Given the description of an element on the screen output the (x, y) to click on. 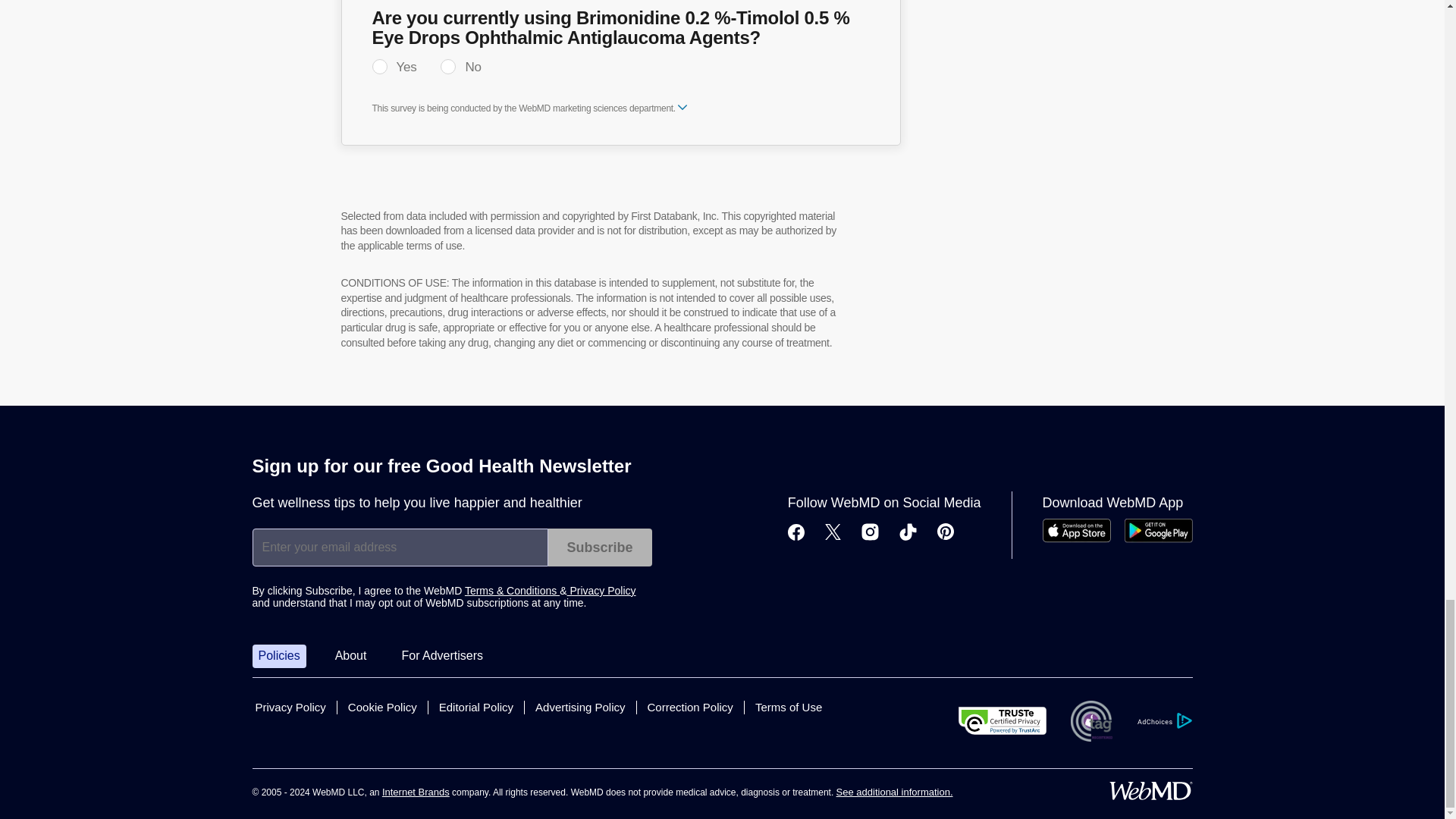
TAG Registered Seal (1091, 721)
TRUSTe Privacy Certification (1002, 720)
WebMD: Better information. Better health. (1150, 790)
Adchoices (1163, 720)
